Given the description of an element on the screen output the (x, y) to click on. 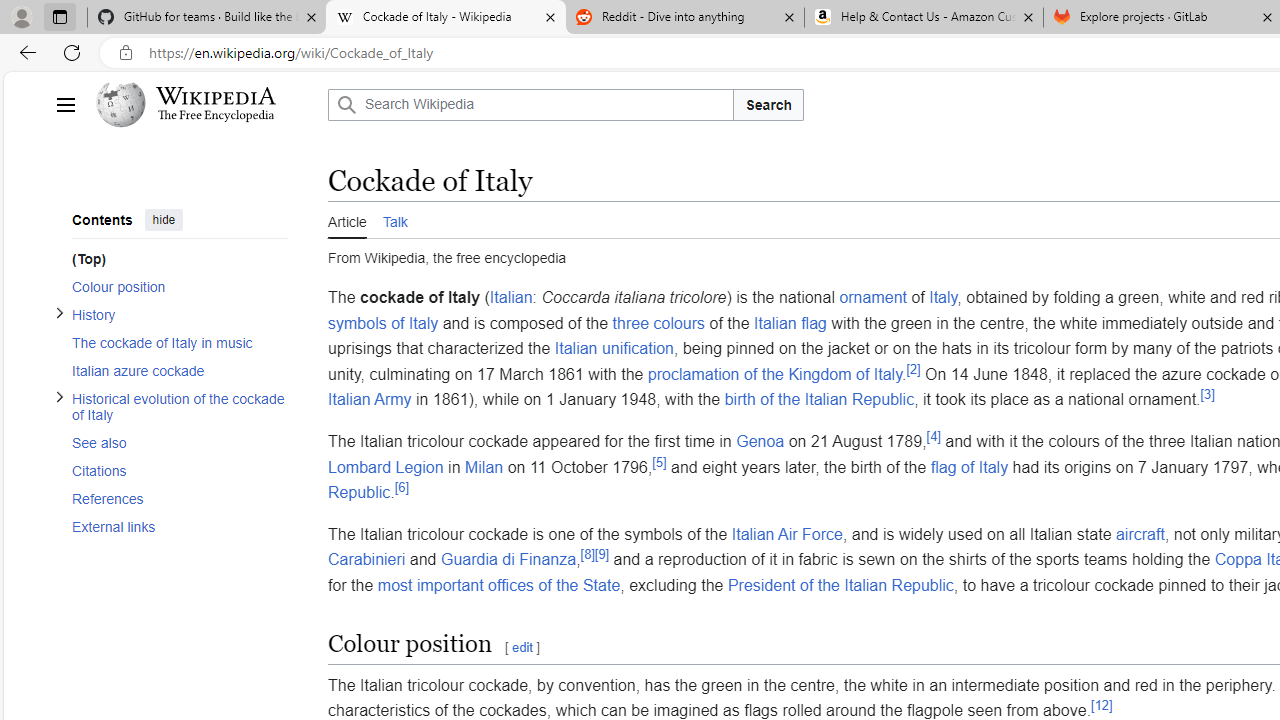
Italian flag (789, 322)
edit (521, 647)
The cockade of Italy in music (179, 342)
See also (174, 442)
President of the Italian Republic (840, 585)
History (179, 314)
Talk (394, 219)
Italian (510, 297)
